Given the description of an element on the screen output the (x, y) to click on. 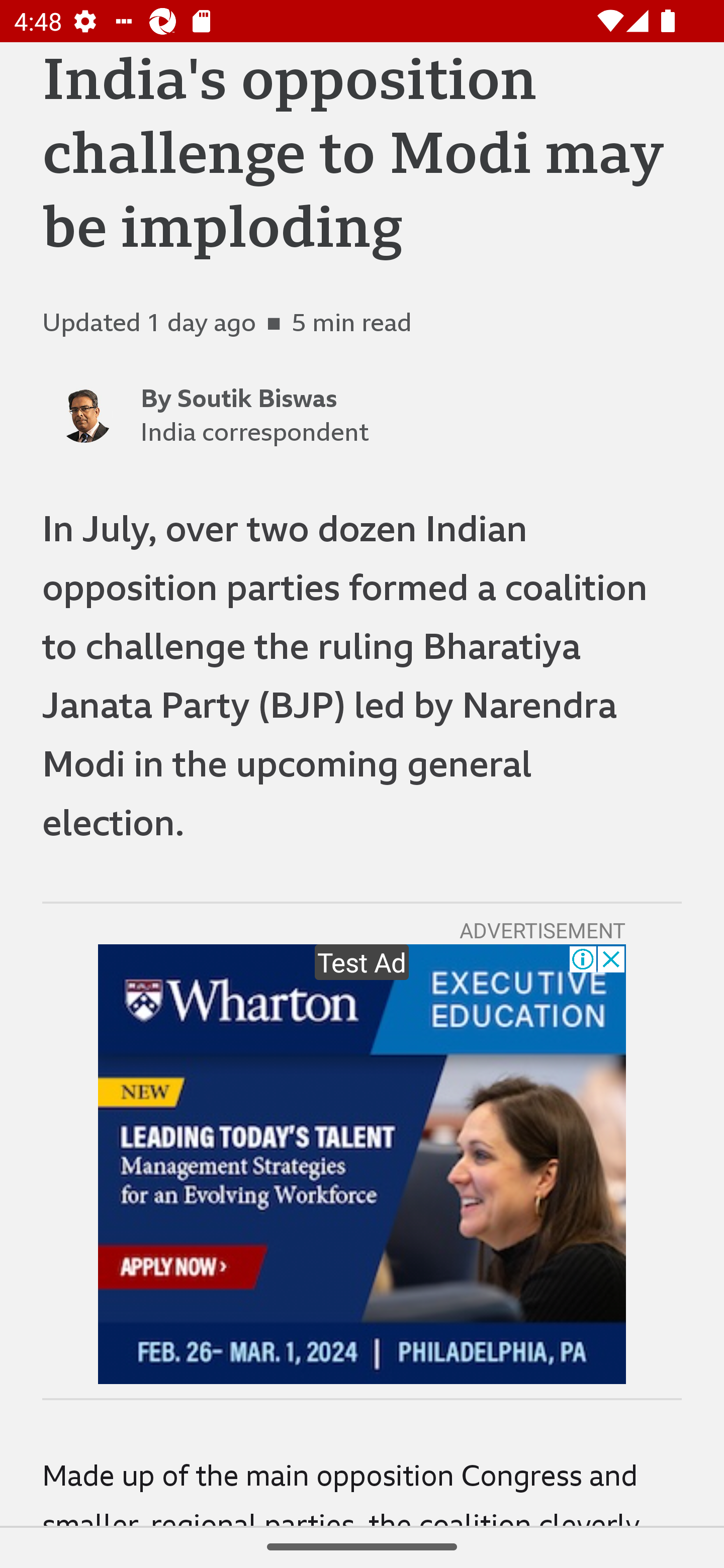
Advertisement (361, 1163)
